Given the description of an element on the screen output the (x, y) to click on. 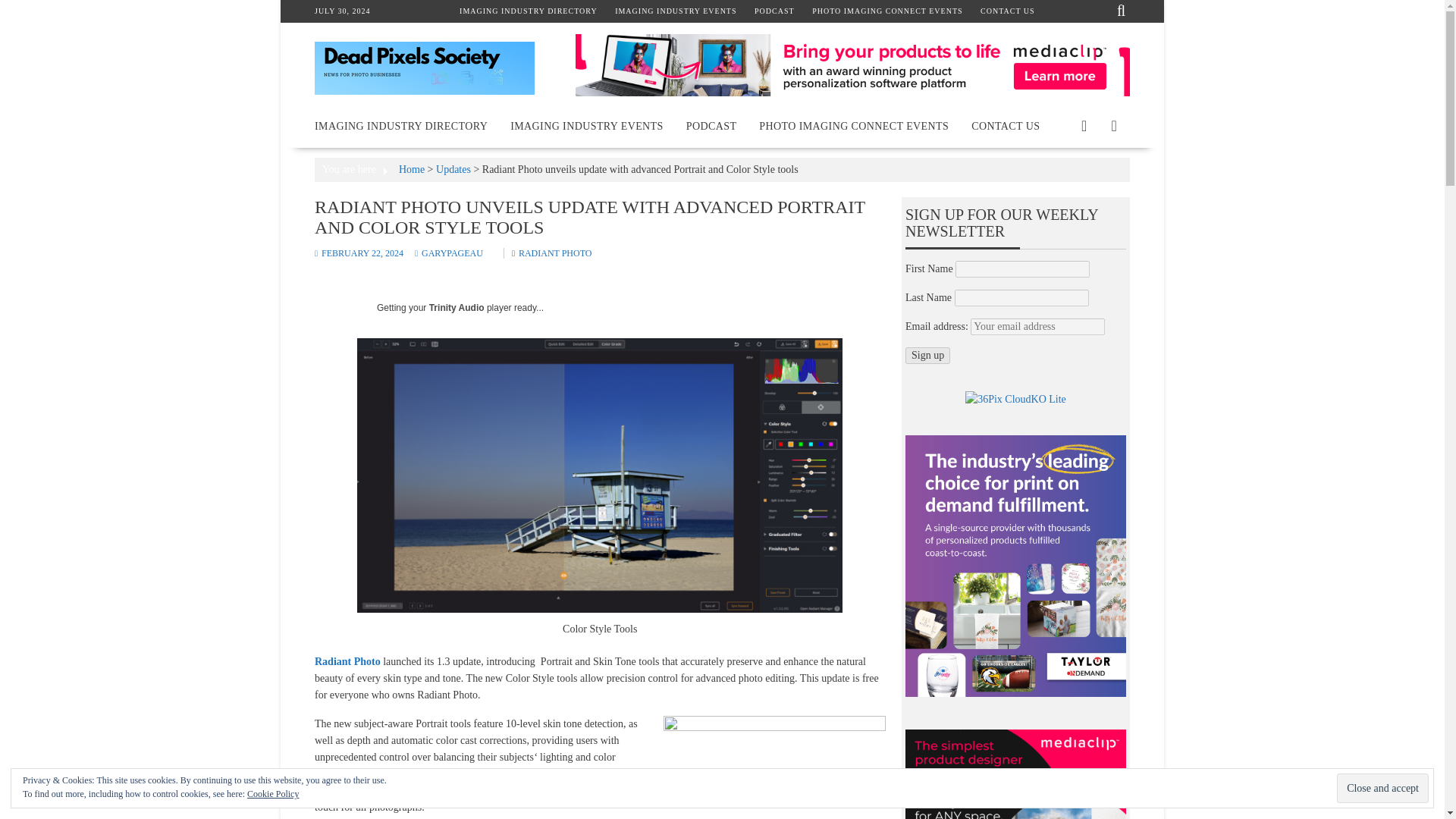
PHOTO IMAGING CONNECT EVENTS (887, 10)
PODCAST (774, 10)
RADIANT PHOTO (555, 253)
GARYPAGEAU (448, 253)
Radiant Photo (347, 661)
FEBRUARY 22, 2024 (358, 253)
Sign up (927, 355)
CONTACT US (1005, 126)
Sign up (927, 355)
IMAGING INDUSTRY EVENTS (587, 126)
PODCAST (711, 126)
Home (411, 169)
IMAGING INDUSTRY EVENTS (675, 10)
IMAGING INDUSTRY DIRECTORY (400, 126)
Trinity Audio (456, 307)
